Given the description of an element on the screen output the (x, y) to click on. 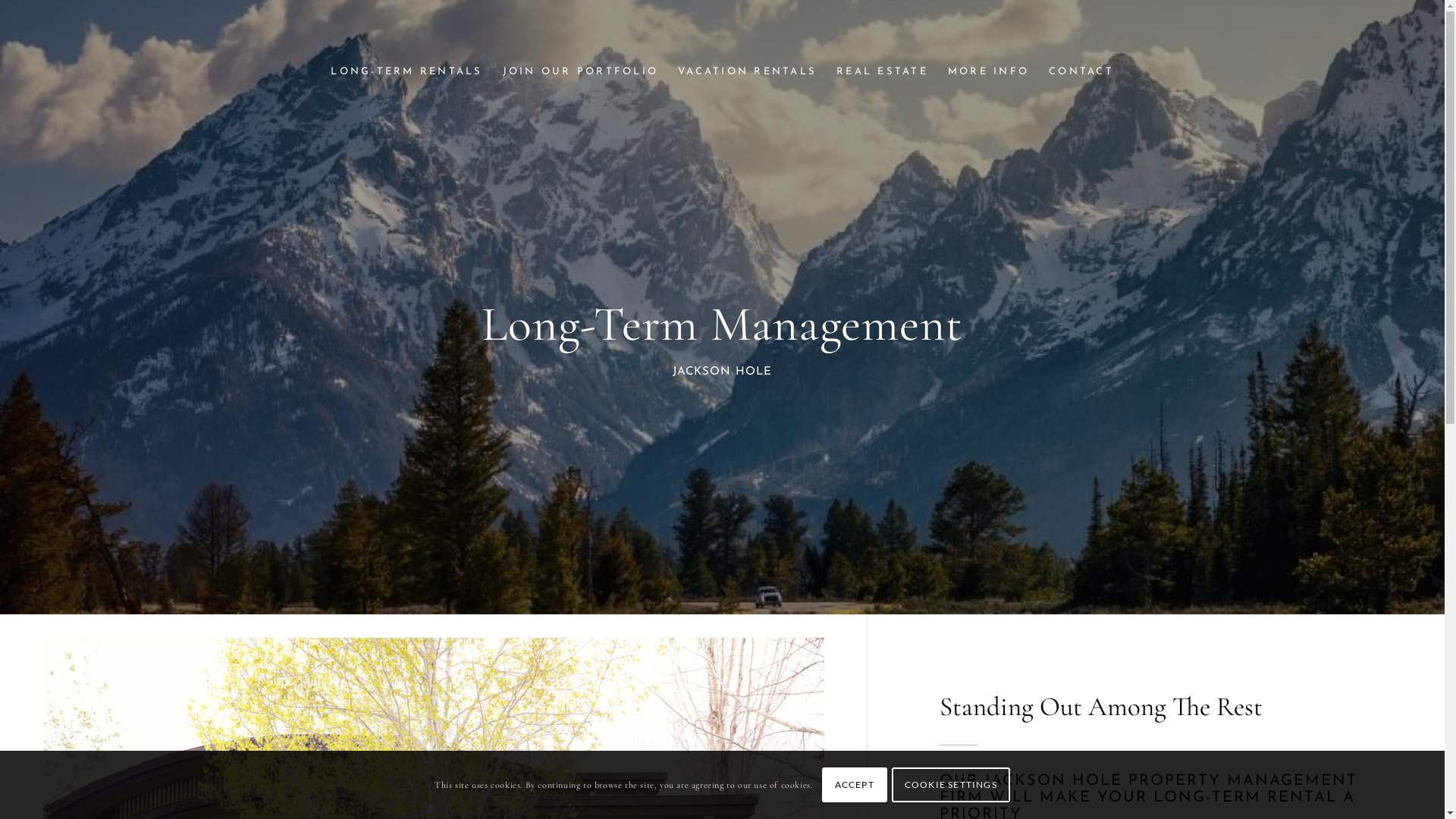
MORE INFO Element type: text (988, 71)
ACCEPT Element type: text (854, 784)
VACATION RENTALS Element type: text (747, 71)
JOIN OUR PORTFOLIO Element type: text (580, 71)
COOKIE SETTINGS Element type: text (950, 784)
LONG-TERM RENTALS Element type: text (406, 71)
REAL ESTATE Element type: text (882, 71)
CONTACT Element type: text (1080, 71)
